Given the description of an element on the screen output the (x, y) to click on. 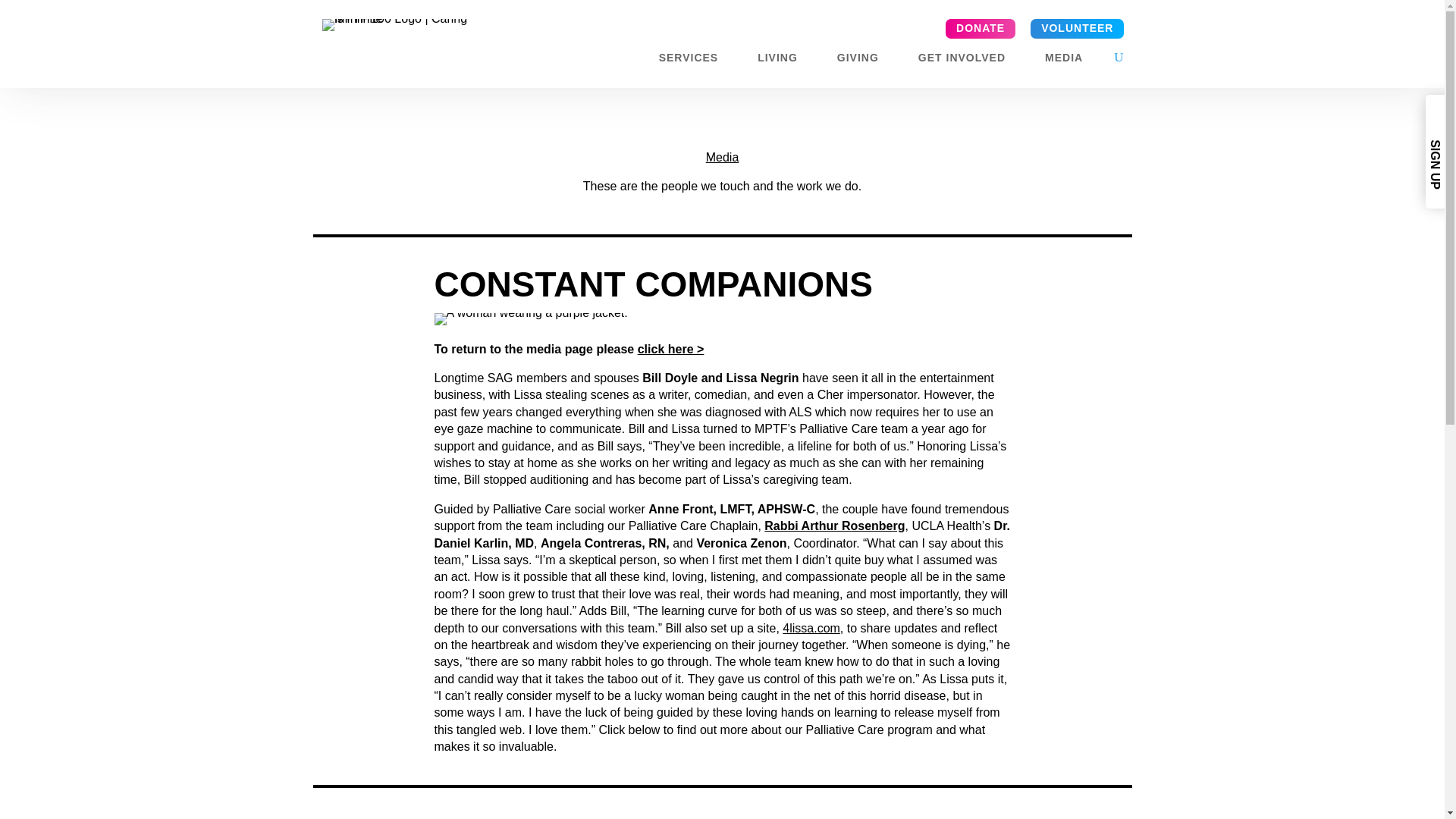
SERVICES (696, 60)
GIVING (865, 60)
VOLUNTEER (1077, 28)
MEDIA (1071, 60)
LIVING (784, 60)
DONATE (979, 28)
GET INVOLVED (969, 60)
